Given the description of an element on the screen output the (x, y) to click on. 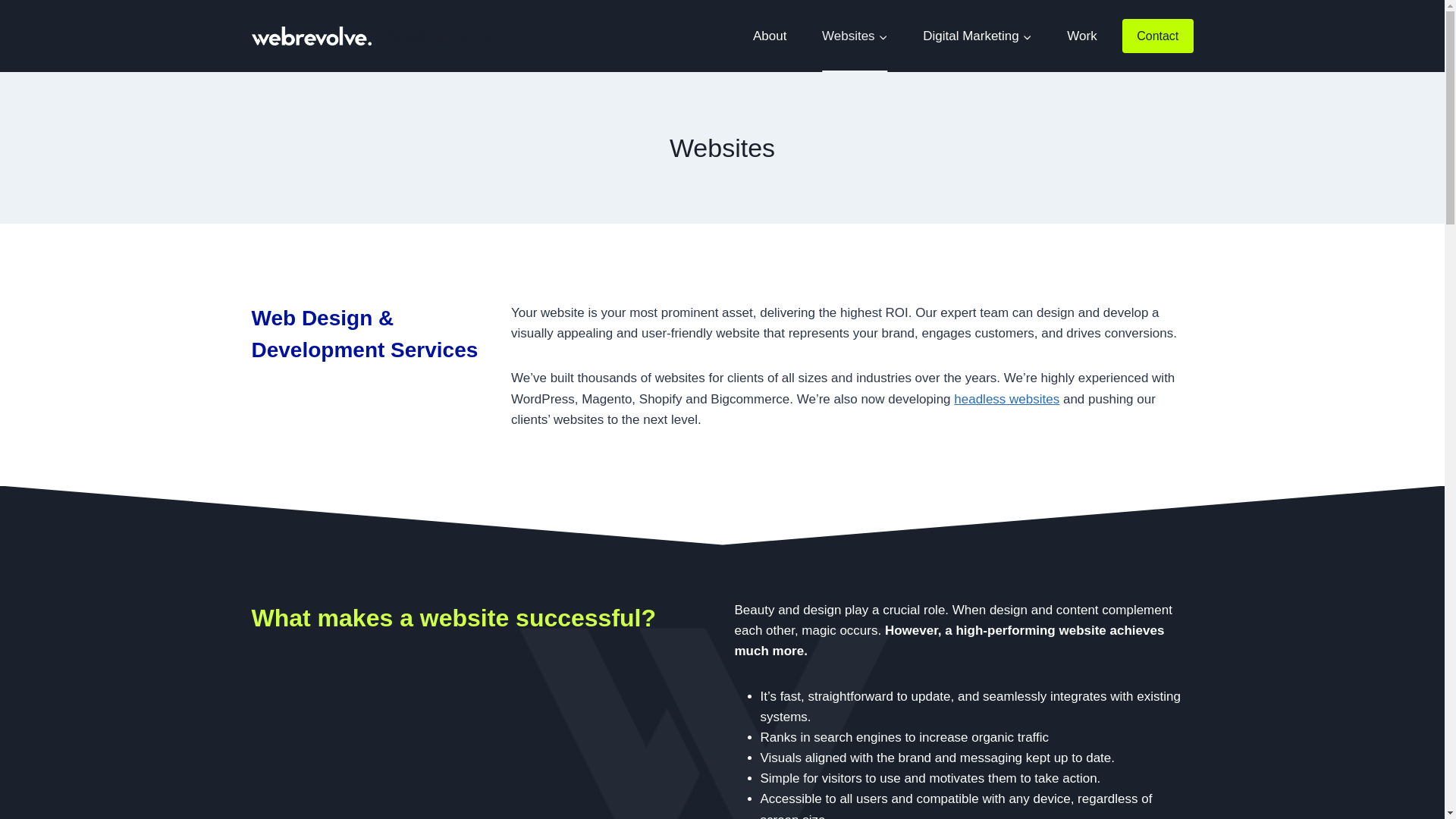
Websites (855, 36)
Webrevolve (373, 35)
About (770, 36)
Work (1082, 36)
Digital Marketing (977, 36)
Contact (1157, 35)
headless websites (1006, 399)
